Given the description of an element on the screen output the (x, y) to click on. 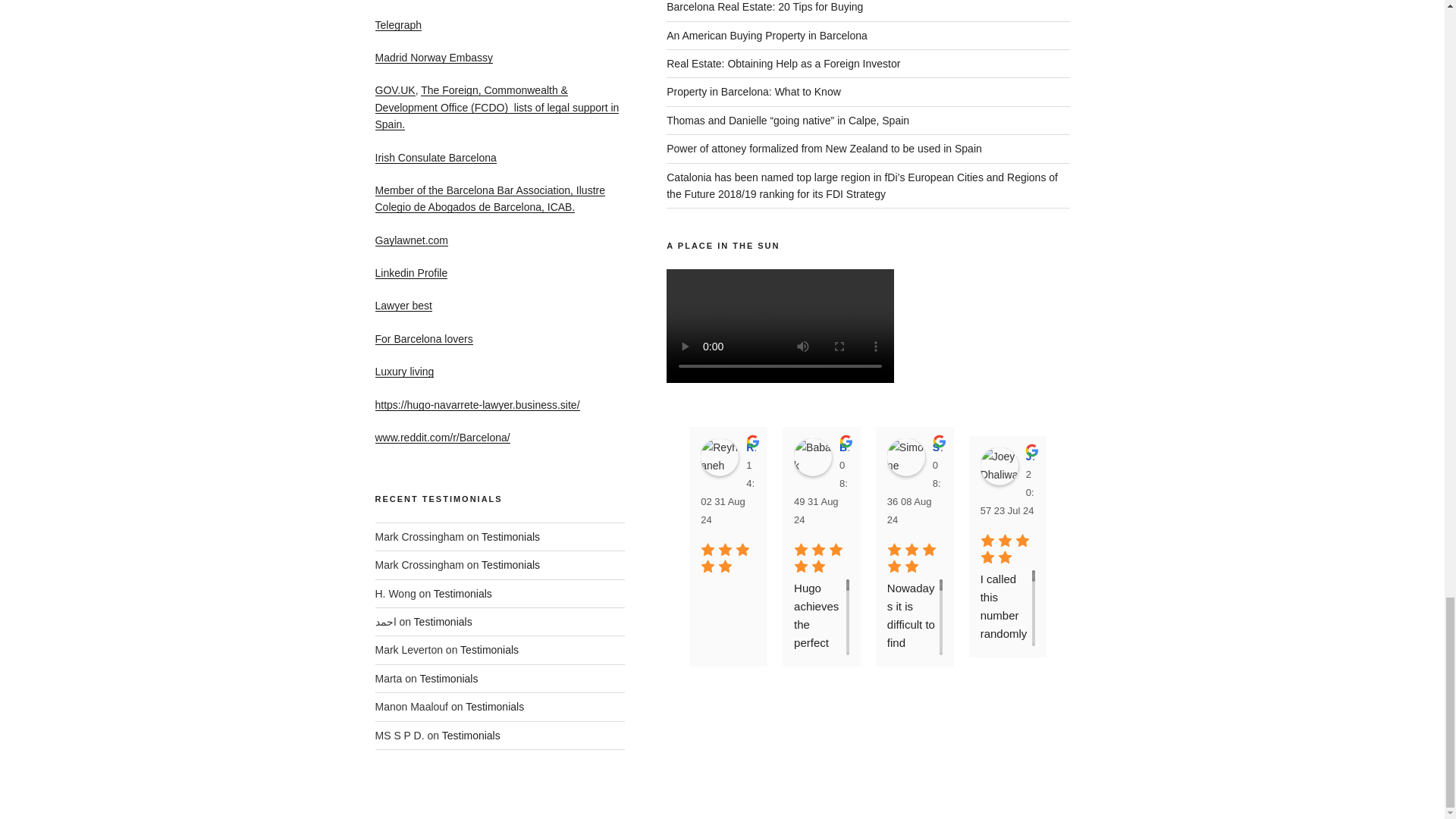
Babak Moghimi (812, 456)
Reyhaneh Nikoo (719, 456)
Simone Parigino (905, 456)
mark crossingham (1185, 466)
Joey Dhaliwal (998, 466)
Doreen Bett (1091, 466)
Go to the GOV.UK homepage (394, 90)
